Given the description of an element on the screen output the (x, y) to click on. 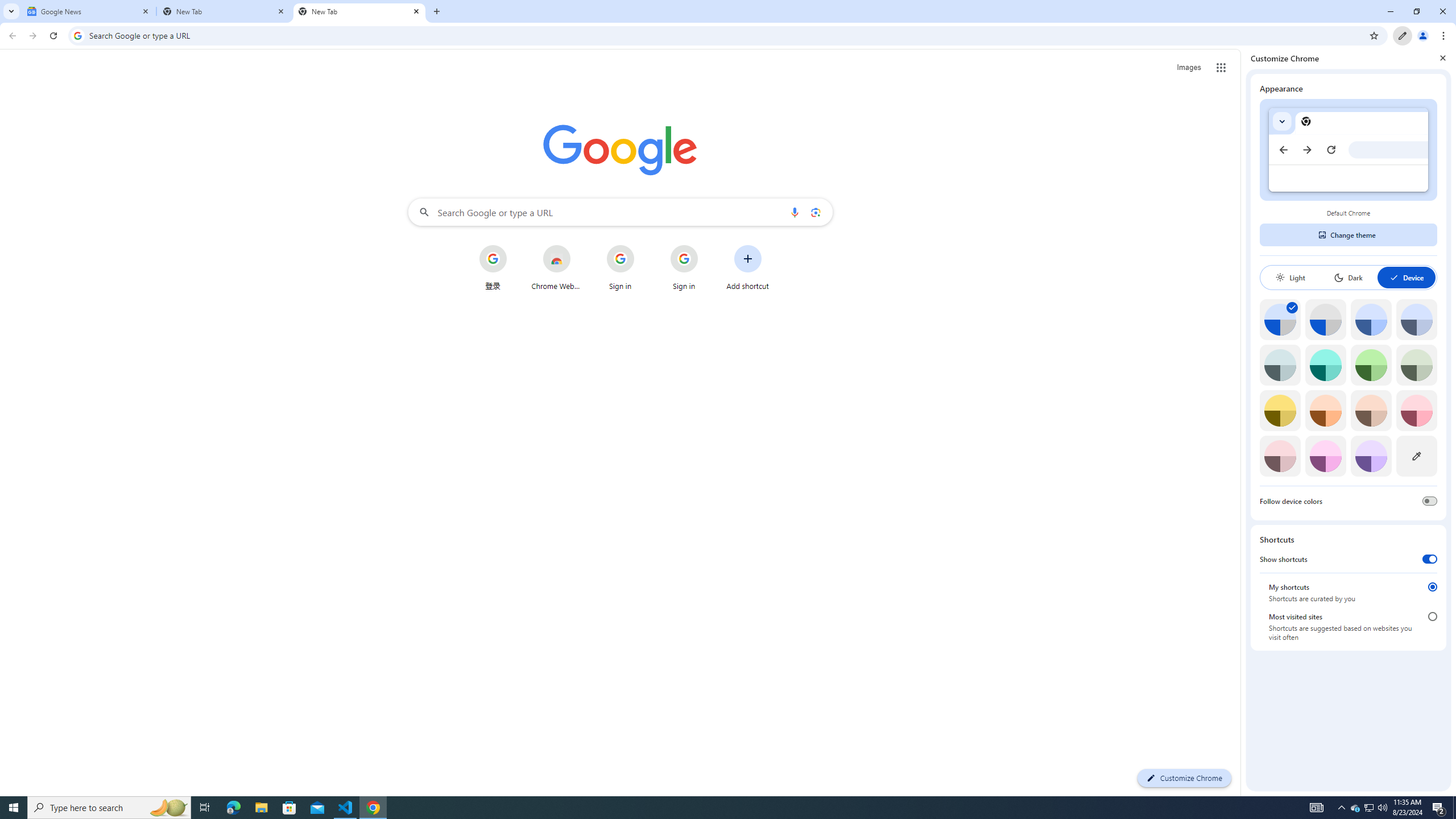
Apricot (1371, 409)
Aqua (1325, 364)
Pink (1279, 455)
Cool grey (1416, 318)
Light (1289, 277)
More actions for Sign in shortcut (706, 245)
Fuchsia (1325, 455)
Grey (1279, 364)
